Given the description of an element on the screen output the (x, y) to click on. 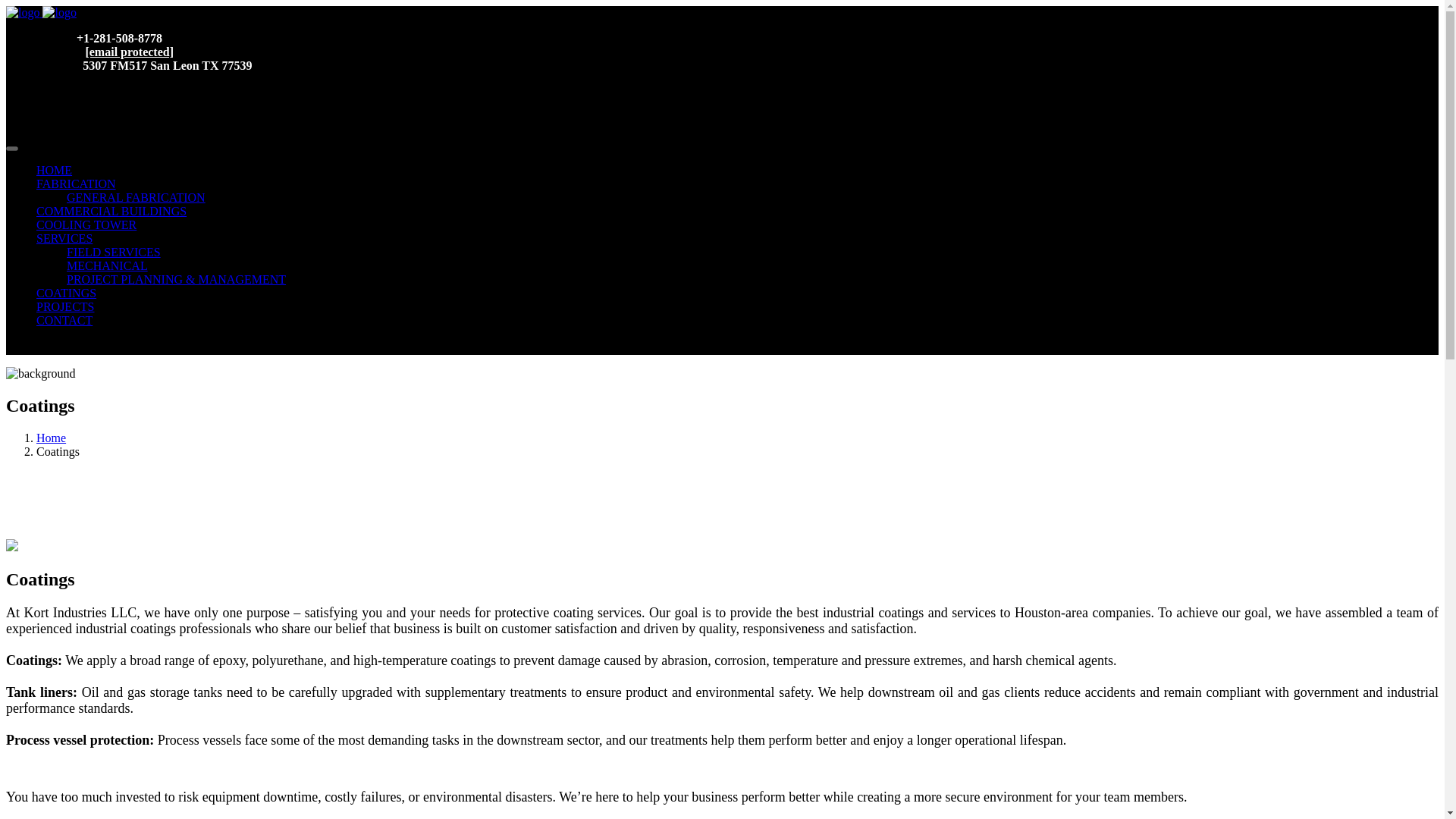
FABRICATION (76, 183)
Home (50, 437)
HOME (53, 169)
COOLING TOWER (86, 224)
Get Quote (60, 333)
SERVICES (64, 237)
GENERAL FABRICATION (135, 196)
COATINGS (66, 292)
COMMERCIAL BUILDINGS (111, 210)
FIELD SERVICES (113, 251)
